Given the description of an element on the screen output the (x, y) to click on. 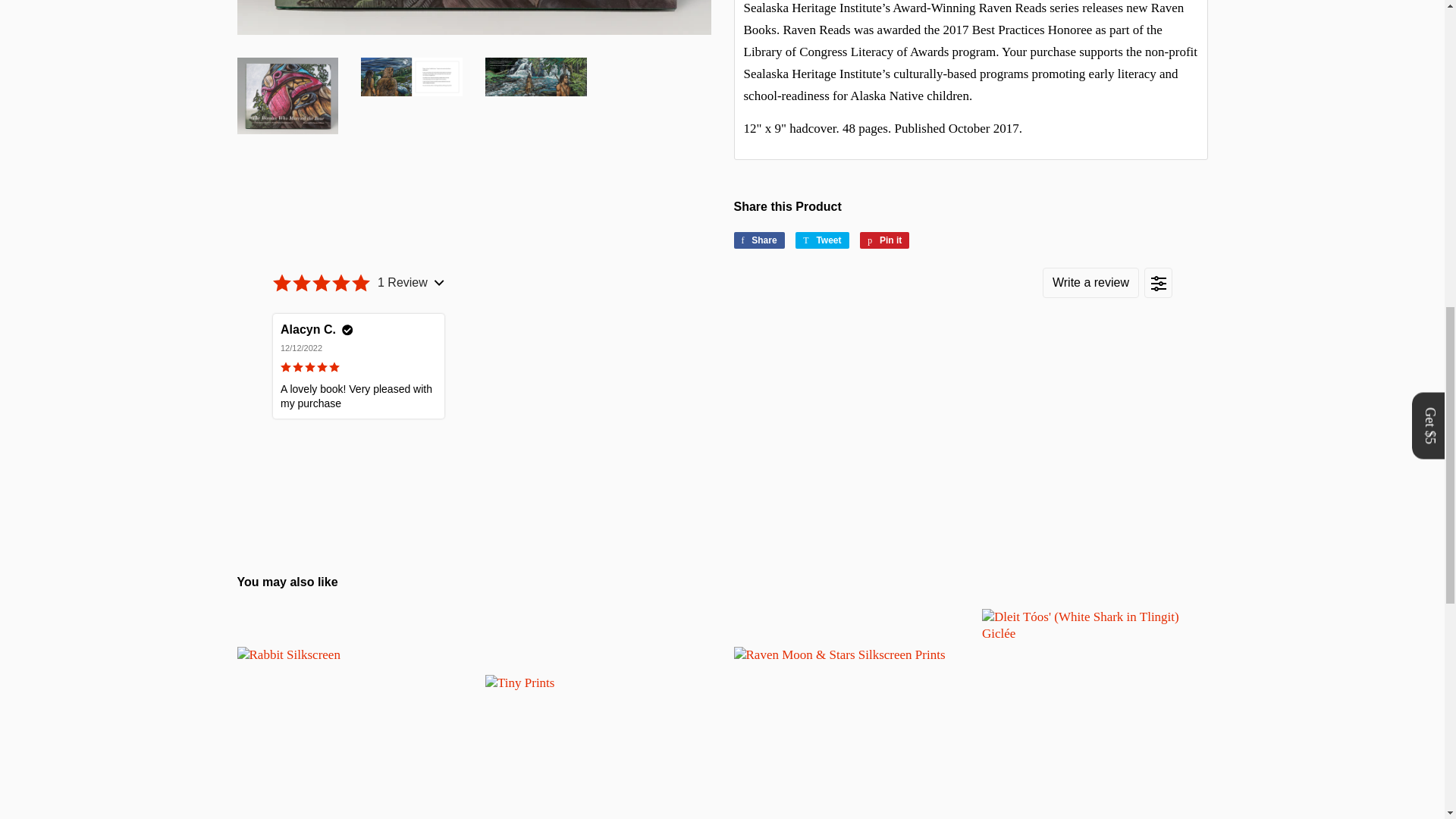
Tweet on Twitter (821, 239)
Pin on Pinterest (884, 239)
Share on Facebook (758, 239)
